Given the description of an element on the screen output the (x, y) to click on. 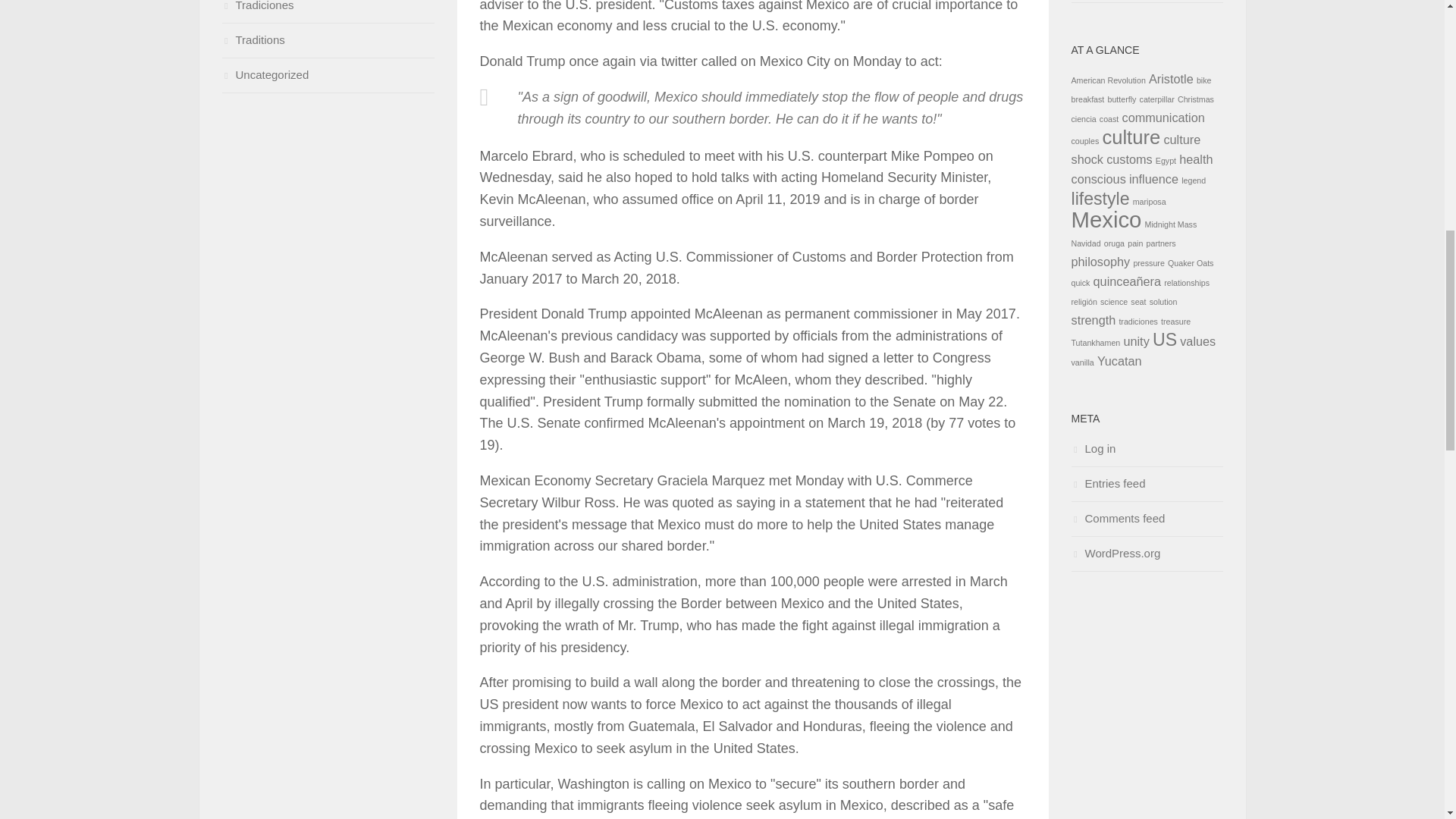
Traditions (252, 39)
Tradiciones (257, 5)
Uncategorized (264, 74)
